Given the description of an element on the screen output the (x, y) to click on. 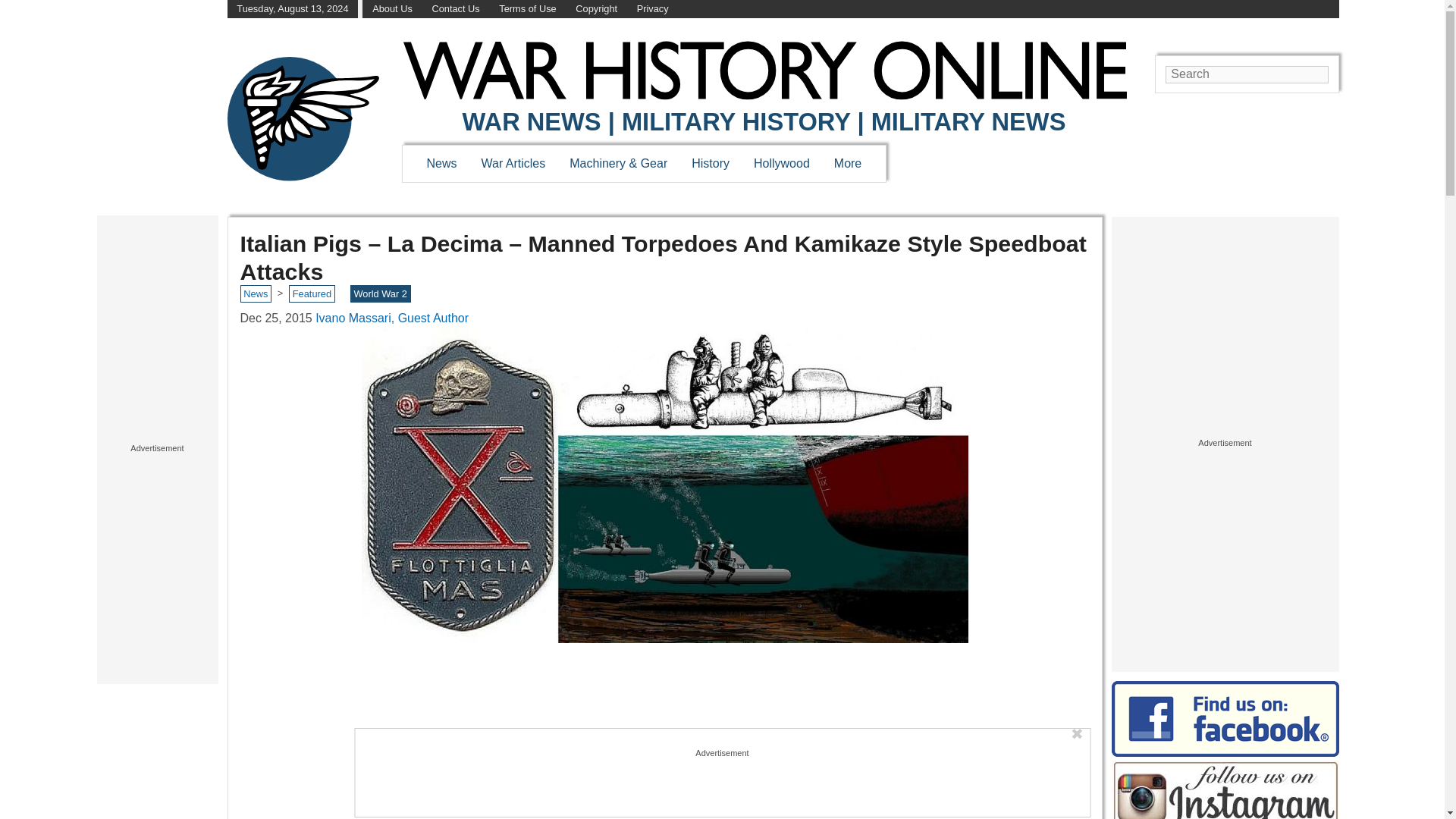
Hollywood (781, 163)
History (710, 163)
Copyright (596, 8)
News (441, 163)
Privacy (652, 8)
Terms of Use (527, 8)
More (847, 163)
War Articles (513, 163)
About Us (392, 8)
Contact Us (454, 8)
